Given the description of an element on the screen output the (x, y) to click on. 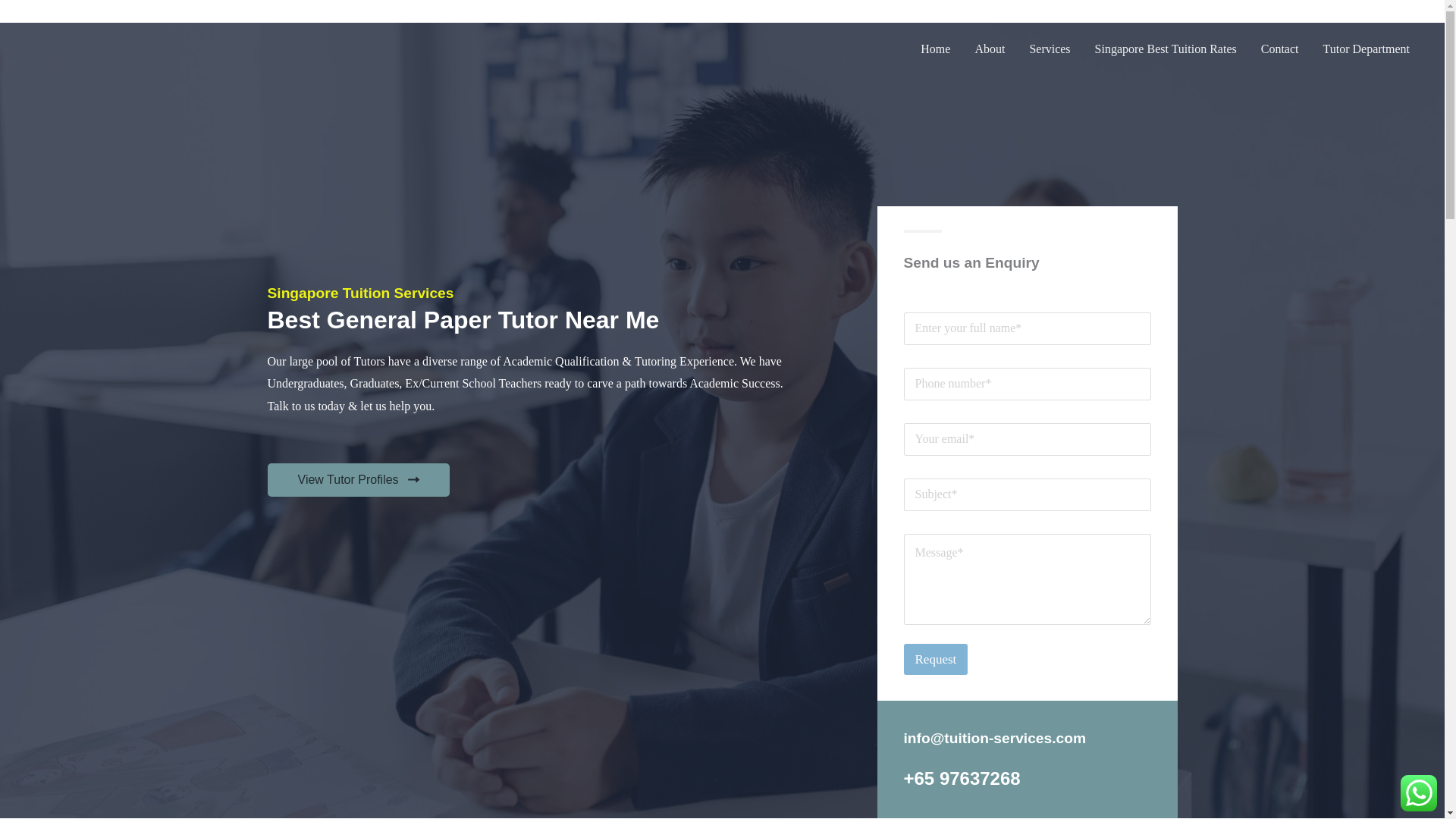
Services (1048, 49)
Home (935, 49)
Contact (1280, 49)
Tutor Department (1366, 49)
About (989, 49)
Singapore Best Tuition Rates (1166, 49)
Singapore Tuition Services (359, 293)
Request (936, 658)
View Tutor Profiles (357, 479)
